Given the description of an element on the screen output the (x, y) to click on. 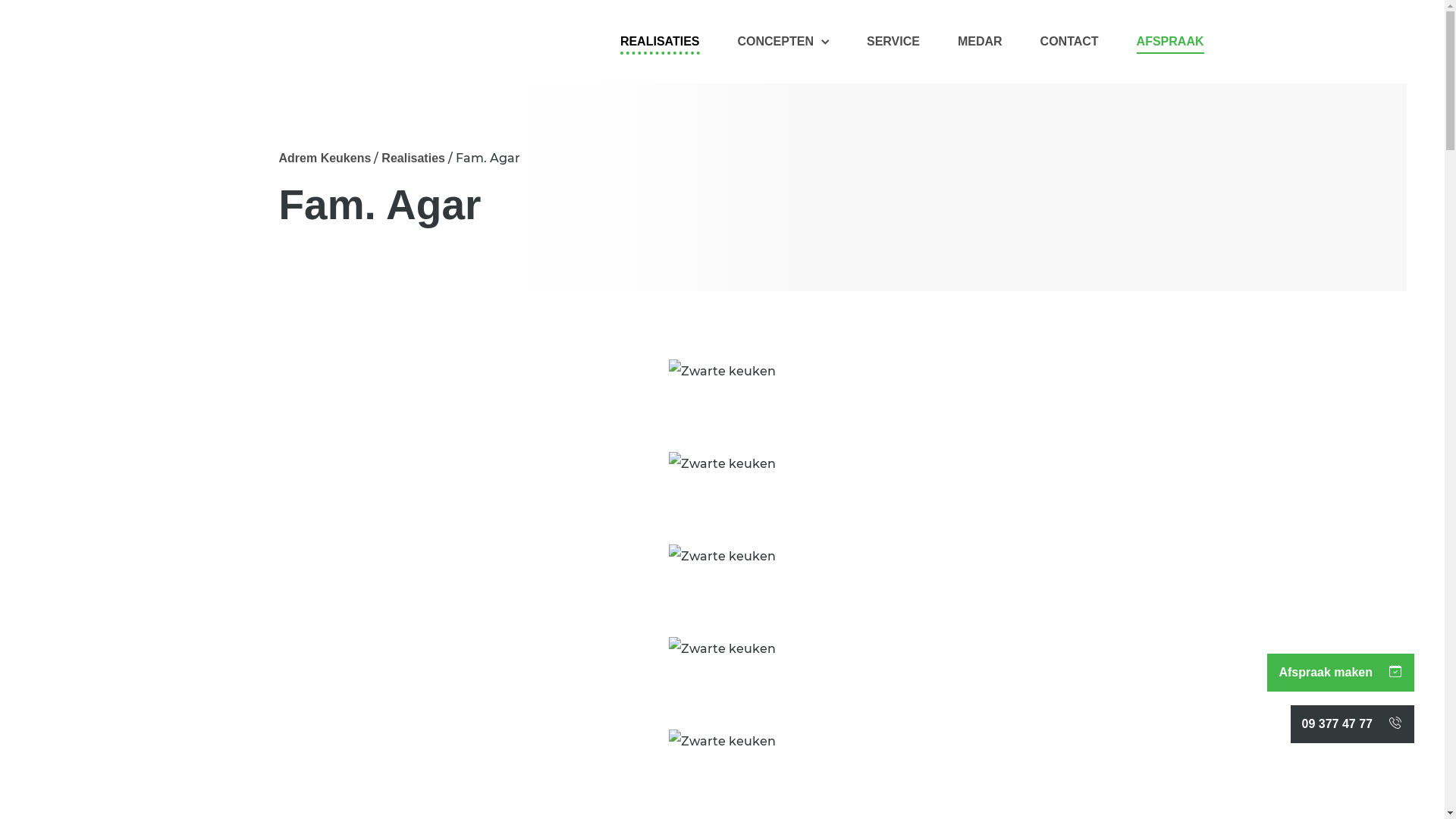
CONCEPTEN Element type: text (782, 44)
09 377 47 77 Element type: text (1395, 724)
MEDAR Element type: text (979, 44)
SERVICE Element type: text (892, 44)
CONTACT Element type: text (1069, 44)
Afspraak maken Element type: text (1395, 672)
REALISATIES Element type: text (659, 44)
Realisaties Element type: text (413, 157)
AFSPRAAK Element type: text (1170, 44)
Adrem Keukens Element type: text (325, 157)
